Given the description of an element on the screen output the (x, y) to click on. 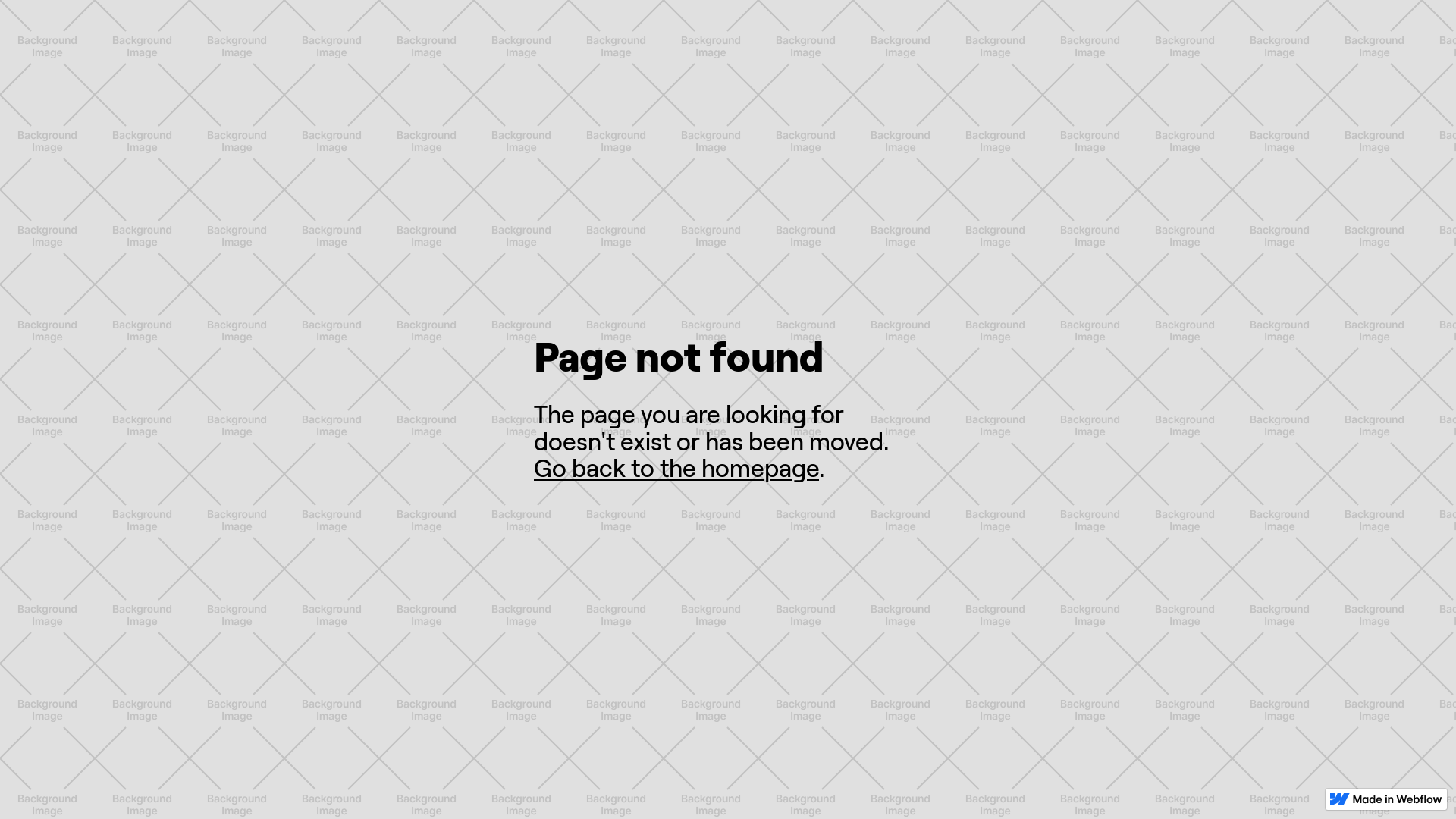
Go back to the homepage Element type: text (676, 468)
